Given the description of an element on the screen output the (x, y) to click on. 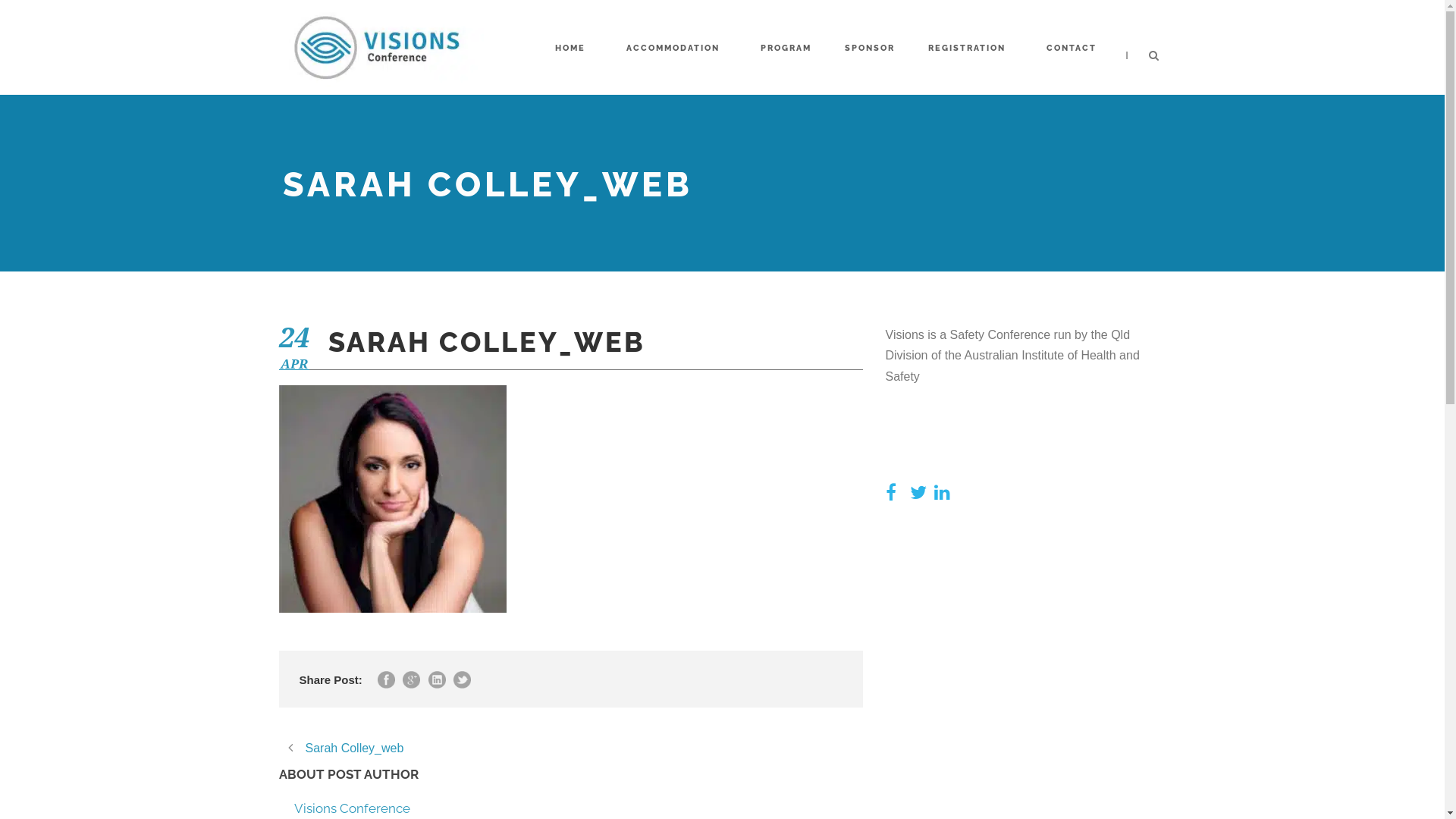
HOME Element type: text (574, 51)
REGISTRATION Element type: text (970, 51)
ACCOMMODATION Element type: text (676, 51)
Visions Conference Element type: text (352, 807)
Sarah Colley_web Element type: text (341, 747)
CONTACT Element type: text (1075, 51)
SPONSOR Element type: text (869, 51)
PROGRAM Element type: text (784, 51)
